Given the description of an element on the screen output the (x, y) to click on. 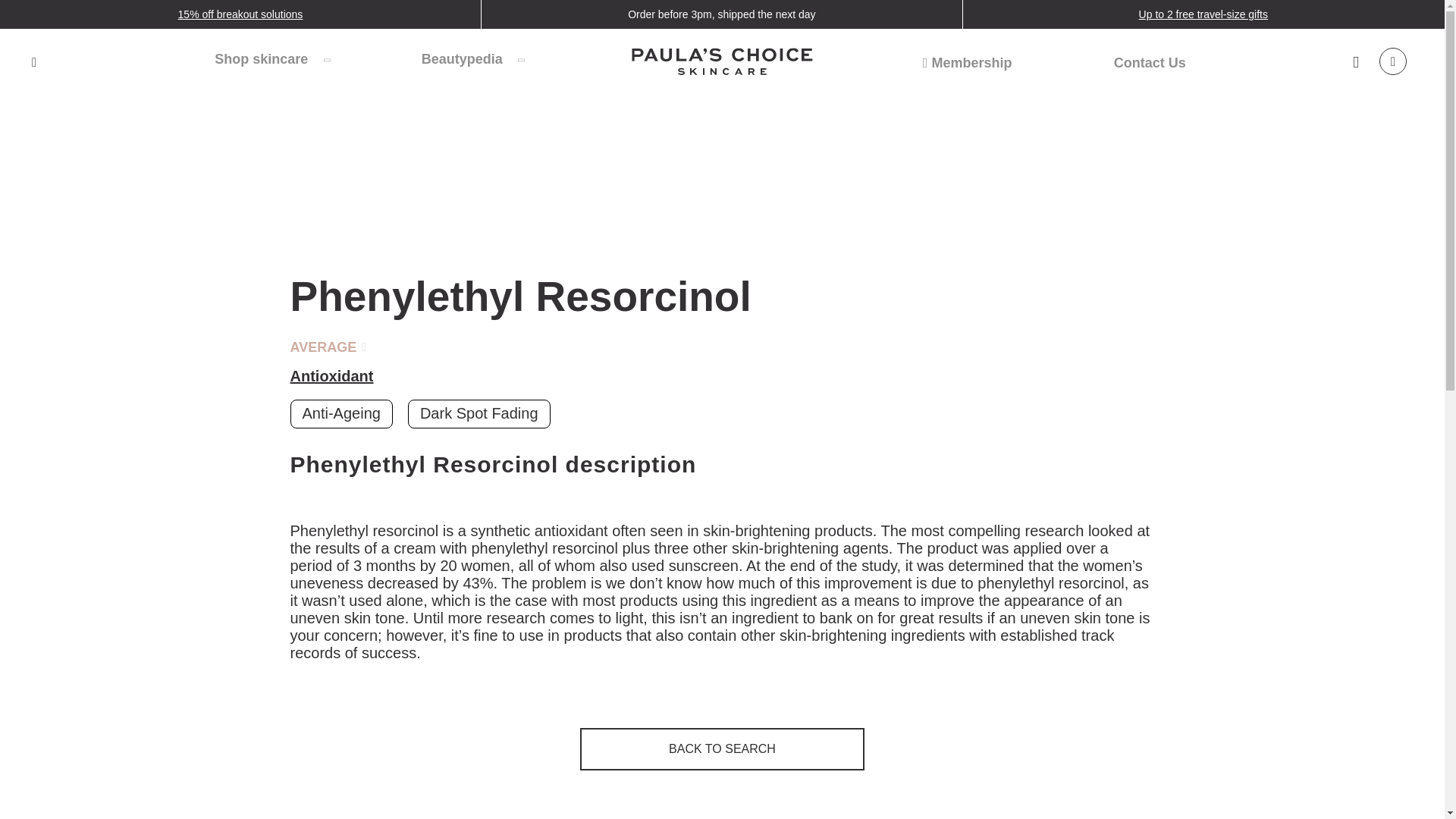
Search (33, 62)
Up to 2 free travel-size gifts (1203, 14)
Back to Homepage (721, 64)
Edit shopping bag (1392, 61)
Become a member (967, 62)
Shop skincare (272, 58)
